Given the description of an element on the screen output the (x, y) to click on. 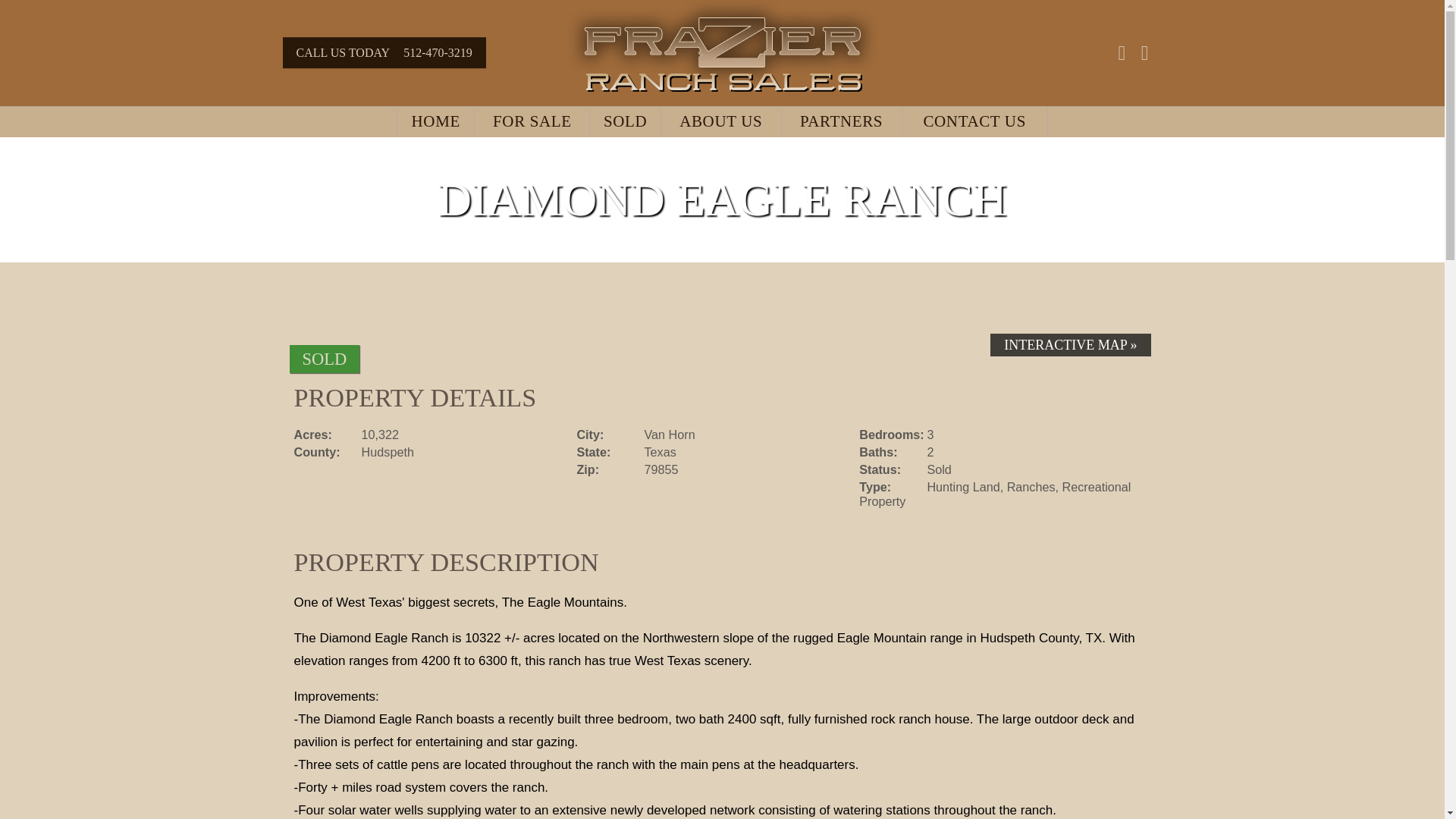
512-470-3219 (437, 51)
SOLD (625, 121)
HOME (435, 121)
CONTACT US (974, 121)
FOR SALE (531, 121)
ABOUT US (720, 121)
PARTNERS (841, 121)
